Given the description of an element on the screen output the (x, y) to click on. 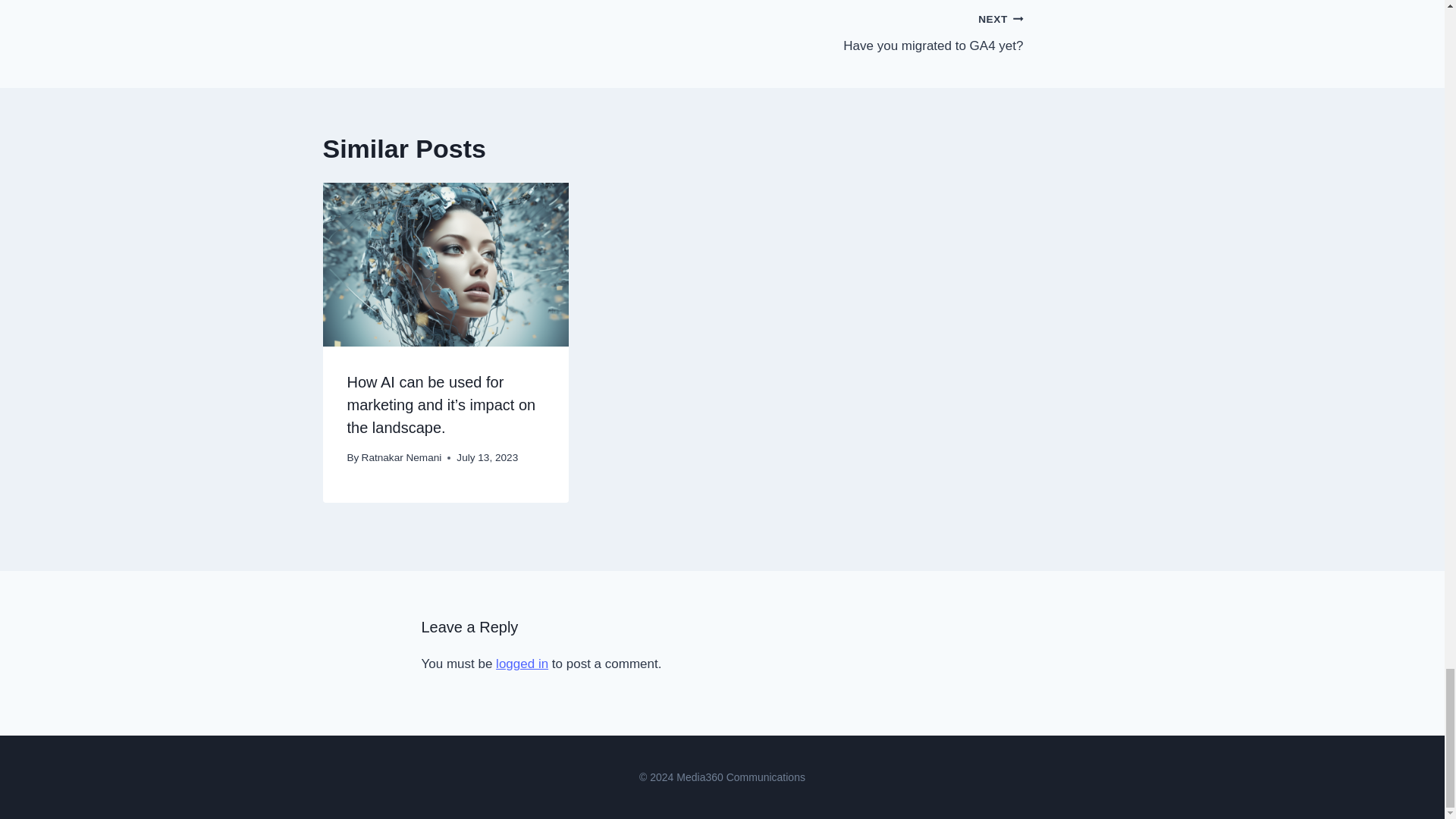
logged in (872, 32)
Ratnakar Nemani (522, 663)
